Given the description of an element on the screen output the (x, y) to click on. 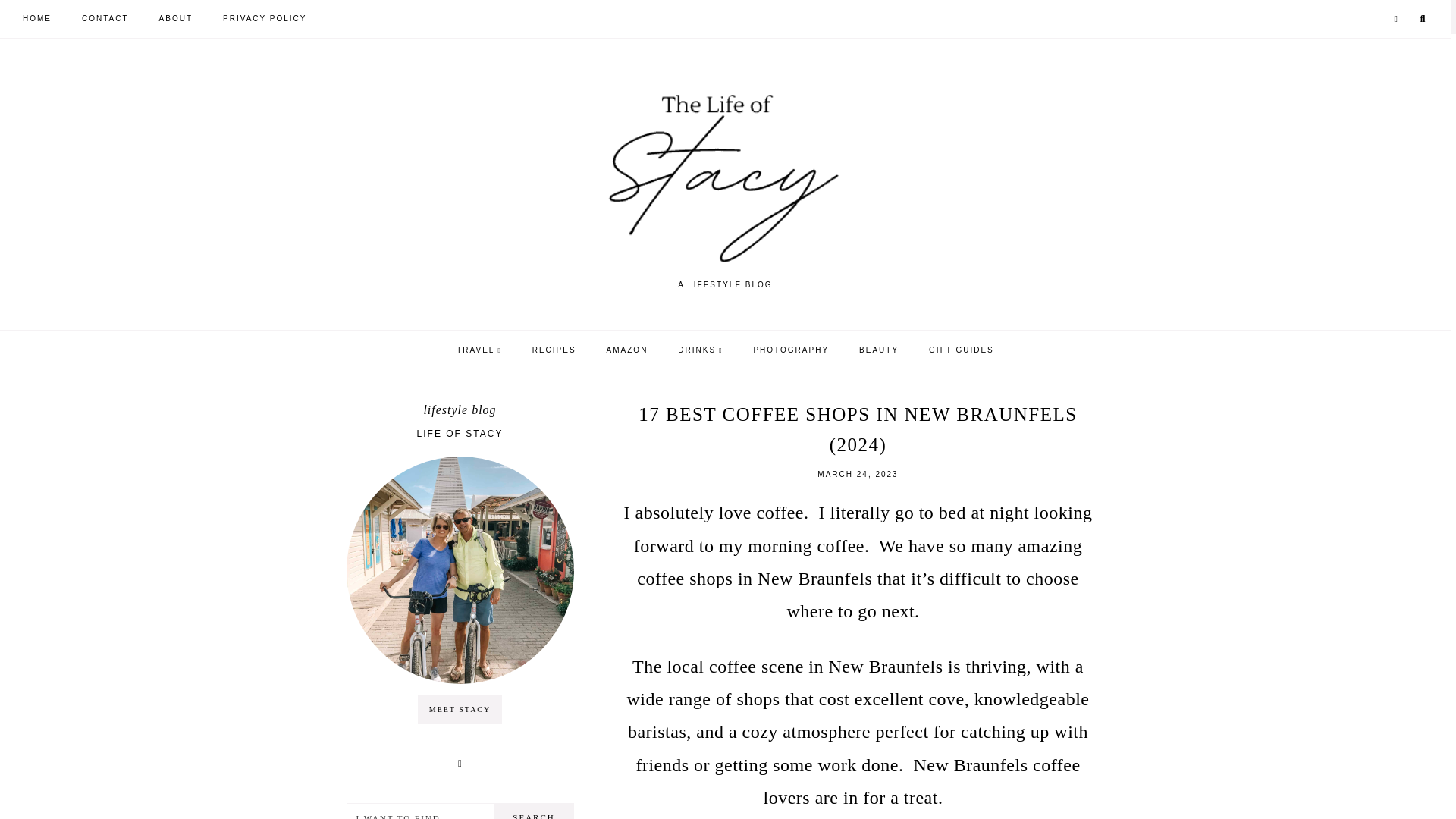
PHOTOGRAPHY (790, 350)
RECIPES (554, 350)
AMAZON (627, 350)
search (895, 370)
search (534, 811)
CONTACT (105, 18)
TRAVEL (478, 350)
DRINKS (700, 350)
GIFT GUIDES (961, 350)
